Given the description of an element on the screen output the (x, y) to click on. 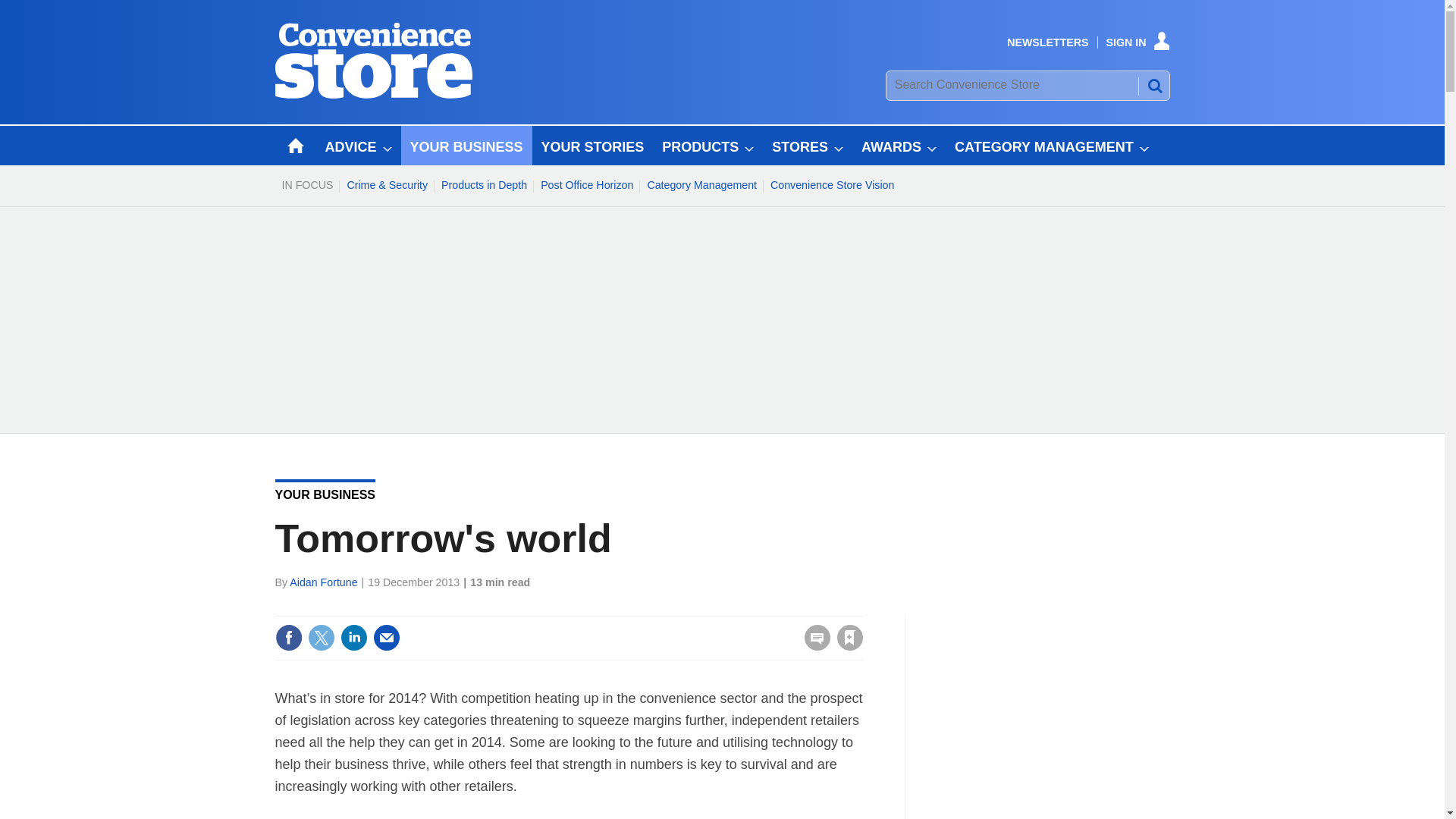
SEARCH (1153, 85)
Share this on Facebook (288, 637)
3rd party ad content (1055, 710)
Share this on Linked in (352, 637)
Site name (373, 93)
No comments (812, 646)
SIGN IN (1138, 42)
NEWSLETTERS (1047, 42)
Category Management (701, 184)
Email this article (386, 637)
